Given the description of an element on the screen output the (x, y) to click on. 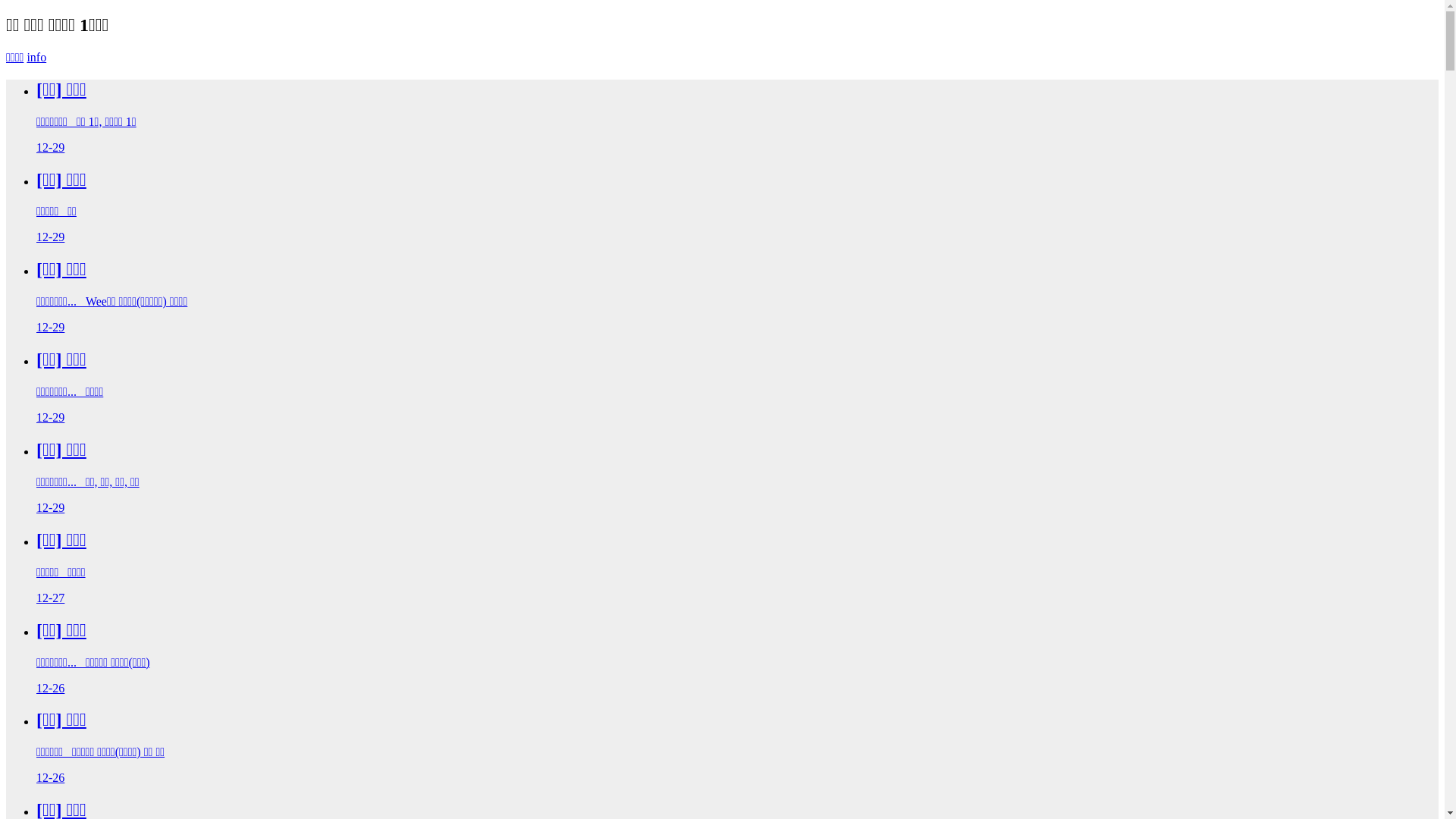
info Element type: text (36, 56)
